Given the description of an element on the screen output the (x, y) to click on. 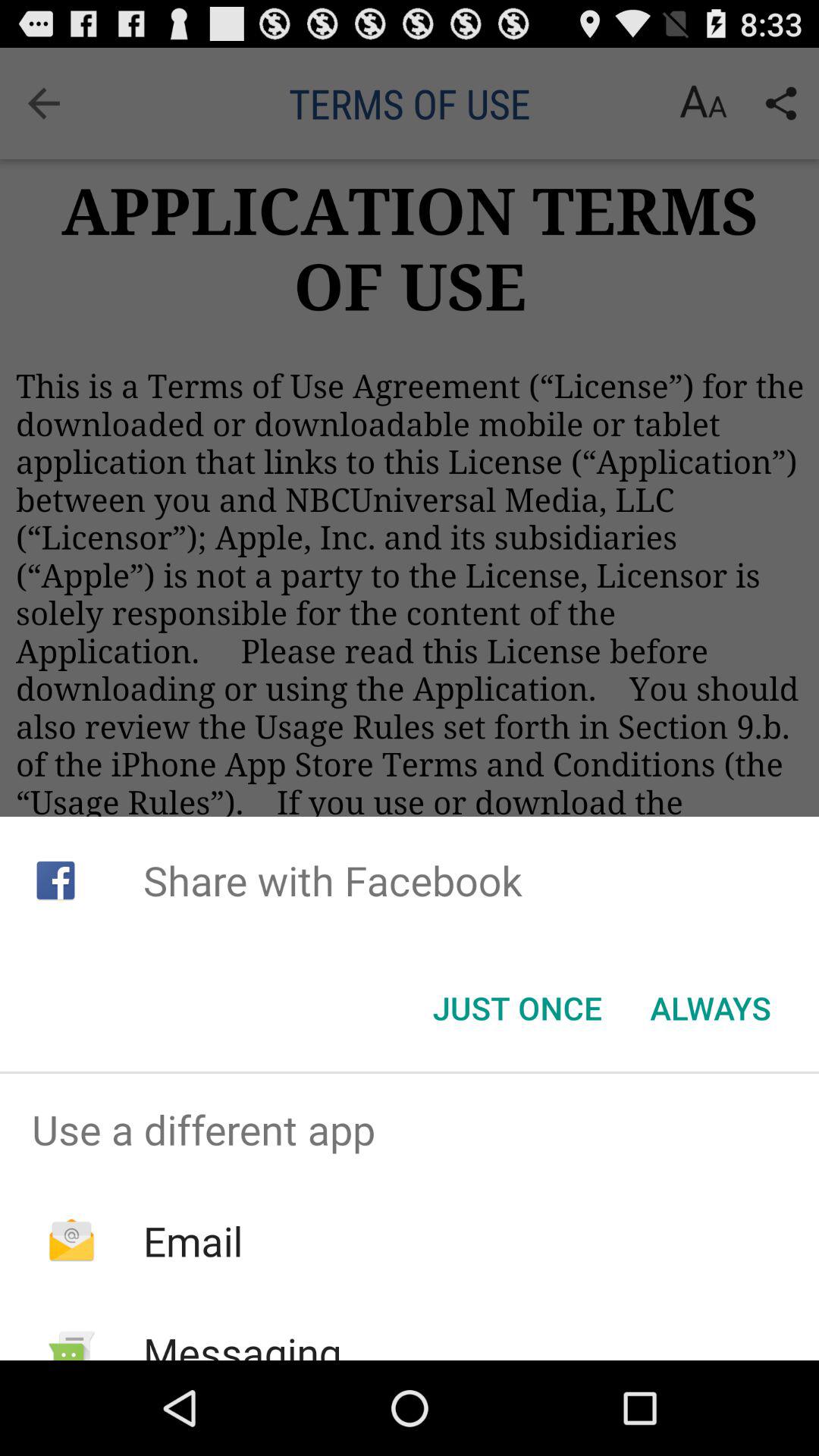
select the icon above email (409, 1129)
